Given the description of an element on the screen output the (x, y) to click on. 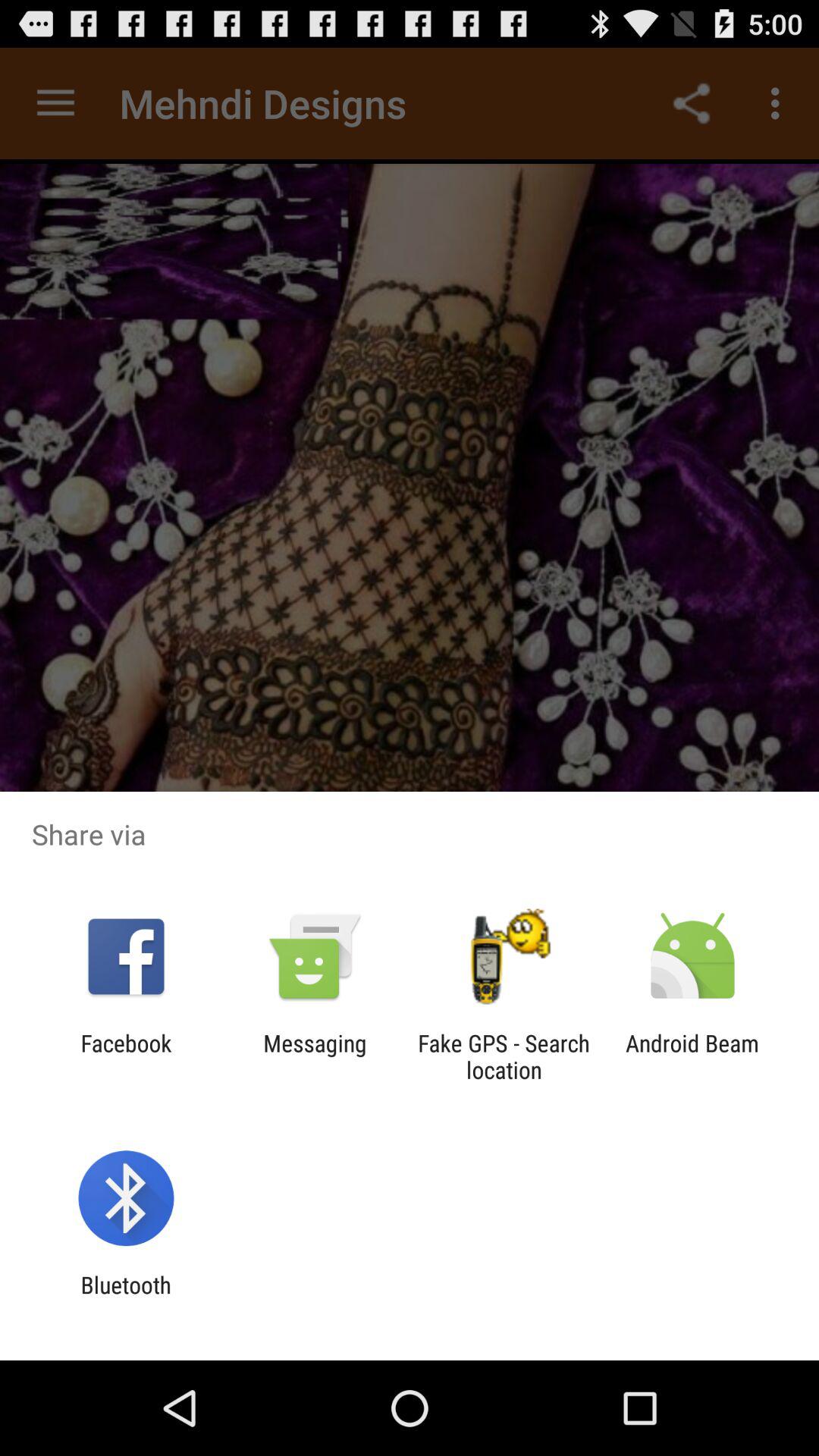
turn on messaging item (314, 1056)
